Given the description of an element on the screen output the (x, y) to click on. 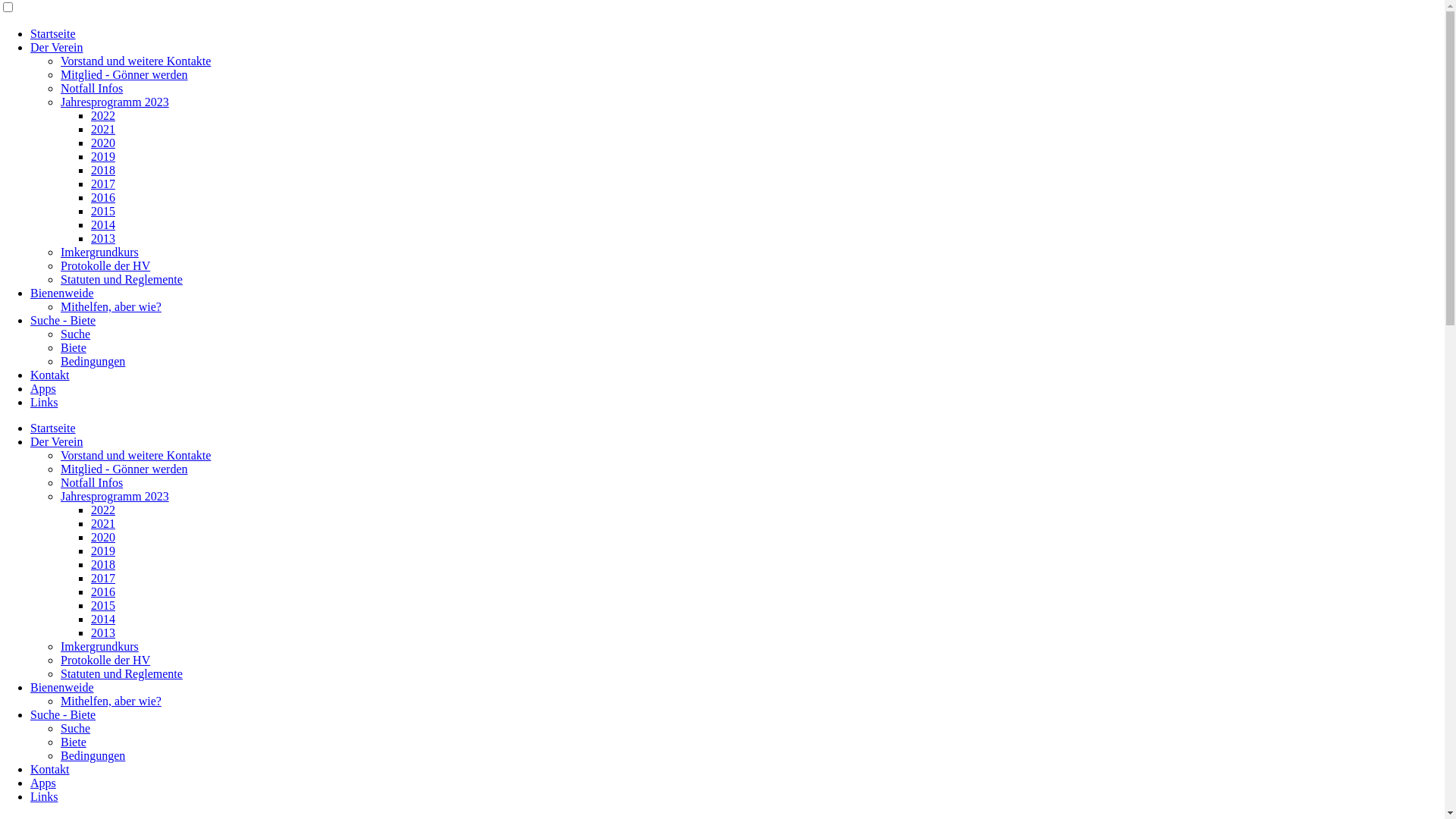
Der Verein Element type: text (56, 46)
Kontakt Element type: text (49, 374)
2021 Element type: text (103, 128)
Statuten und Reglemente Element type: text (121, 279)
Kontakt Element type: text (49, 768)
Mithelfen, aber wie? Element type: text (110, 306)
2016 Element type: text (103, 197)
2013 Element type: text (103, 632)
2015 Element type: text (103, 210)
Suche Element type: text (75, 727)
Bienenweide Element type: text (62, 686)
2016 Element type: text (103, 591)
2022 Element type: text (103, 115)
Jahresprogramm 2023 Element type: text (114, 495)
Bedingungen Element type: text (92, 360)
2017 Element type: text (103, 577)
2021 Element type: text (103, 523)
Protokolle der HV Element type: text (105, 659)
Bienenweide Element type: text (62, 292)
Statuten und Reglemente Element type: text (121, 673)
Links Element type: text (43, 401)
Suche Element type: text (75, 333)
Vorstand und weitere Kontakte Element type: text (135, 454)
2019 Element type: text (103, 156)
2013 Element type: text (103, 238)
Der Verein Element type: text (56, 441)
Notfall Infos Element type: text (91, 87)
Apps Element type: text (43, 388)
2014 Element type: text (103, 618)
Biete Element type: text (73, 741)
Startseite Element type: text (52, 33)
2018 Element type: text (103, 169)
Apps Element type: text (43, 782)
2020 Element type: text (103, 536)
Links Element type: text (43, 796)
Imkergrundkurs Element type: text (99, 646)
Vorstand und weitere Kontakte Element type: text (135, 60)
Protokolle der HV Element type: text (105, 265)
Jahresprogramm 2023 Element type: text (114, 101)
2019 Element type: text (103, 550)
2017 Element type: text (103, 183)
Notfall Infos Element type: text (91, 482)
2014 Element type: text (103, 224)
2020 Element type: text (103, 142)
Mithelfen, aber wie? Element type: text (110, 700)
Suche - Biete Element type: text (62, 714)
Imkergrundkurs Element type: text (99, 251)
2022 Element type: text (103, 509)
2018 Element type: text (103, 564)
Suche - Biete Element type: text (62, 319)
Biete Element type: text (73, 347)
Bedingungen Element type: text (92, 755)
2015 Element type: text (103, 605)
Startseite Element type: text (52, 427)
